Given the description of an element on the screen output the (x, y) to click on. 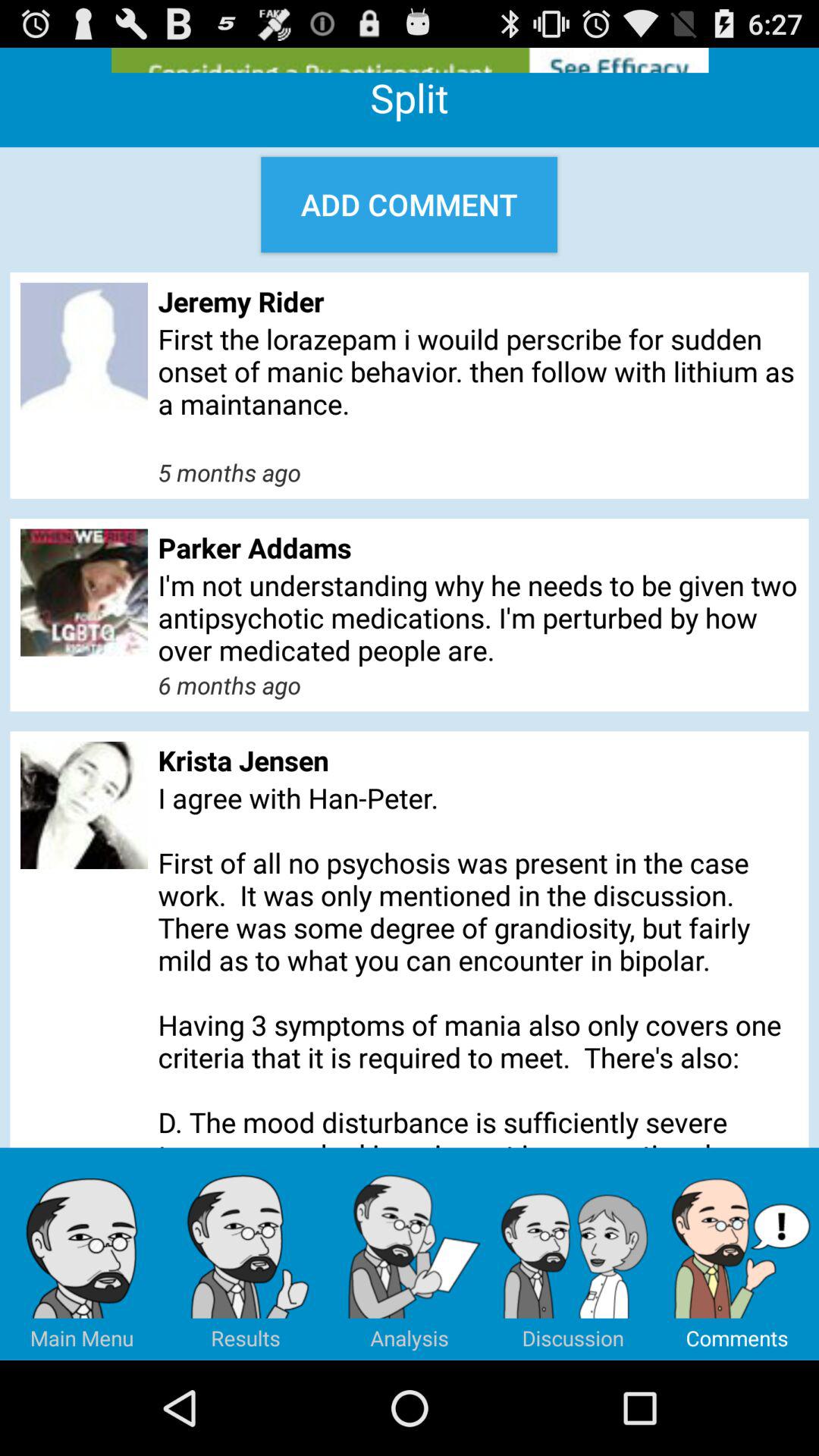
choose the krista jensen (478, 760)
